Given the description of an element on the screen output the (x, y) to click on. 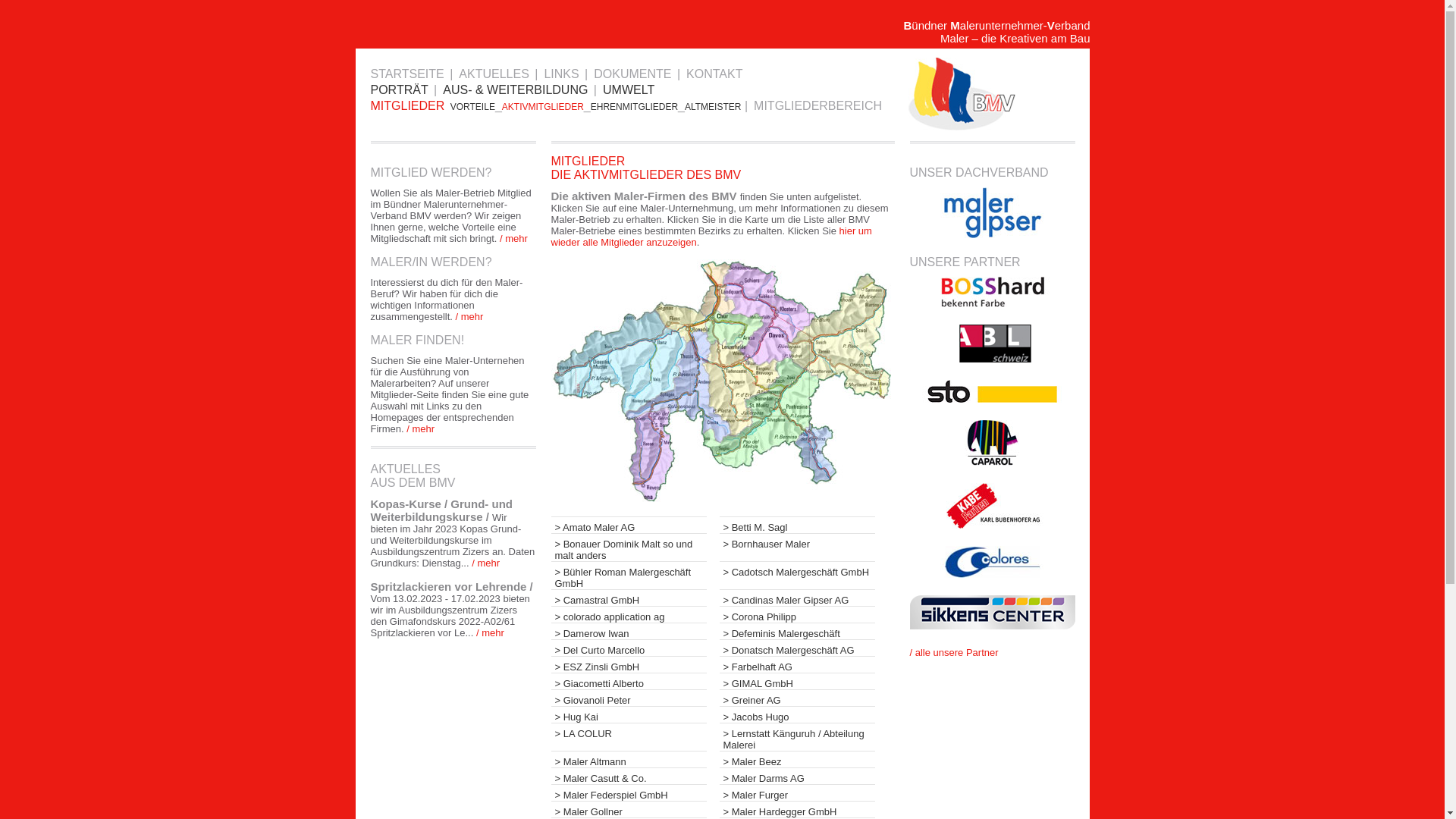
> LA COLUR Element type: text (628, 730)
> Greiner AG Element type: text (796, 697)
/ alle unsere Partner Element type: text (954, 652)
/ mehr Element type: text (469, 316)
> Candinas Maler Gipser AG Element type: text (796, 597)
/ mehr Element type: text (484, 562)
> Maler Federspiel GmbH Element type: text (628, 792)
> Giacometti Alberto Element type: text (628, 680)
> Del Curto Marcello Element type: text (628, 647)
> Hug Kai Element type: text (628, 714)
AKTUELLES Element type: text (494, 73)
> Camastral GmbH Element type: text (628, 597)
> Amato Maler AG Element type: text (628, 524)
> ESZ Zinsli GmbH Element type: text (628, 663)
> Giovanoli Peter Element type: text (628, 697)
STARTSEITE Element type: text (407, 73)
> Bonauer Dominik Malt so und malt anders Element type: text (628, 547)
/ mehr Element type: text (488, 632)
> Maler Darms AG Element type: text (796, 775)
EHRENMITGLIEDER Element type: text (633, 106)
AKTIVMITGLIEDER Element type: text (542, 106)
/ mehr Element type: text (513, 238)
ALTMEISTER Element type: text (712, 106)
MITGLIEDERBEREICH Element type: text (818, 105)
AUS- & WEITERBILDUNG Element type: text (515, 89)
> Farbelhaft AG Element type: text (796, 663)
UMWELT Element type: text (629, 89)
> colorado application ag Element type: text (628, 613)
> GIMAL GmbH Element type: text (796, 680)
> Maler Beez Element type: text (796, 758)
> Corona Philipp Element type: text (796, 613)
hier um wieder alle Mitglieder anzuzeigen Element type: text (710, 236)
> Maler Altmann Element type: text (628, 758)
> Maler Hardegger GmbH Element type: text (796, 808)
> Maler Furger Element type: text (796, 792)
> Bornhauser Maler Element type: text (796, 541)
> Maler Casutt & Co. Element type: text (628, 775)
/ mehr Element type: text (420, 428)
KONTAKT Element type: text (715, 73)
> Jacobs Hugo Element type: text (796, 714)
> Betti M. Sagl Element type: text (796, 524)
MITGLIEDER Element type: text (408, 105)
> Damerow Iwan Element type: text (628, 630)
DOKUMENTE Element type: text (633, 73)
> Maler Gollner Element type: text (628, 808)
LINKS Element type: text (561, 73)
VORTEILE Element type: text (472, 106)
